Given the description of an element on the screen output the (x, y) to click on. 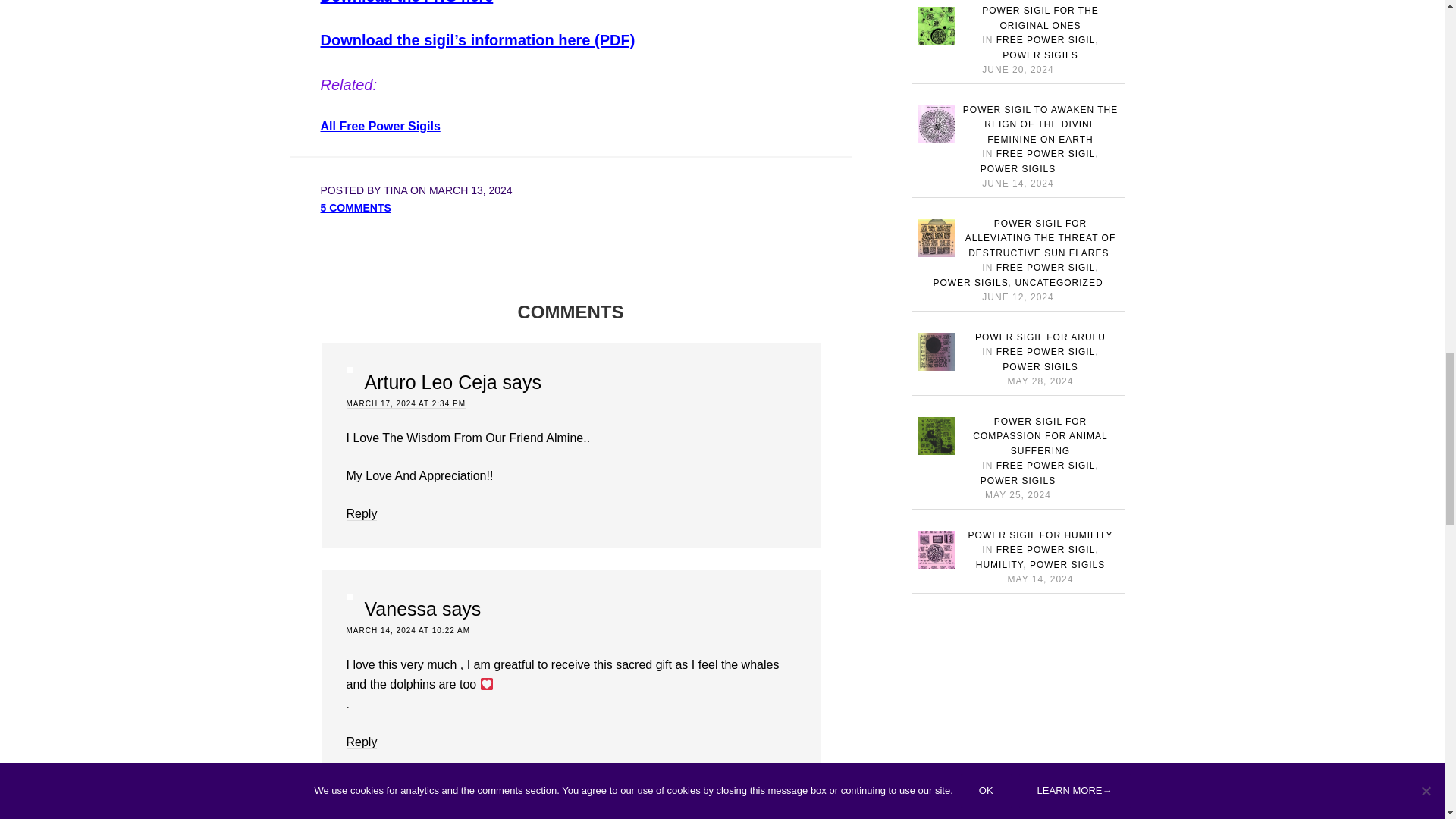
5 COMMENTS (355, 207)
Reply (361, 742)
Download the PNG here (406, 2)
Reply (361, 513)
MARCH 14, 2024 AT 10:22 AM (407, 630)
All Free Power Sigils (379, 125)
MARCH 17, 2024 AT 2:34 PM (405, 403)
